Given the description of an element on the screen output the (x, y) to click on. 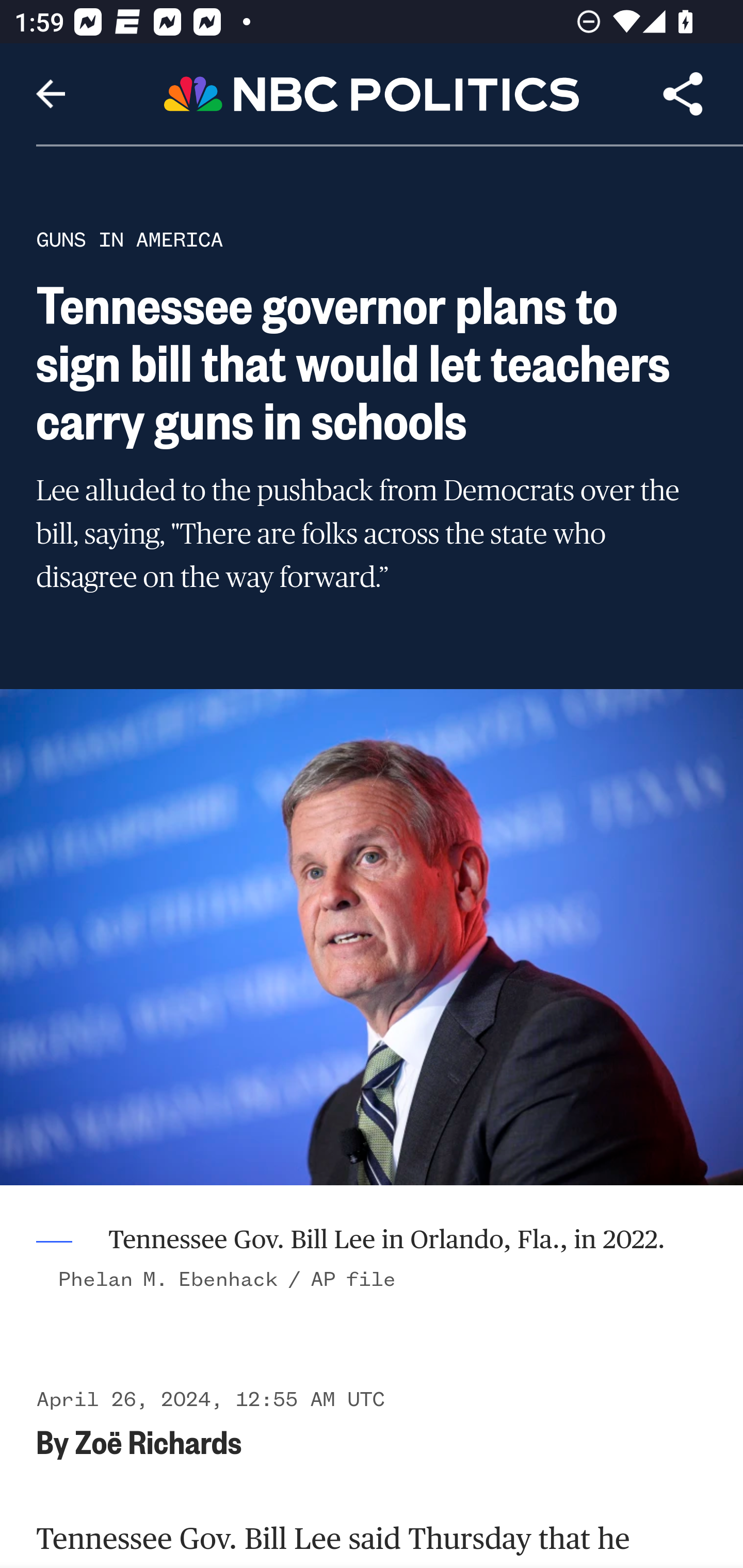
Navigate up (50, 93)
Share Article, button (683, 94)
Header, NBC Politics (371, 93)
